Given the description of an element on the screen output the (x, y) to click on. 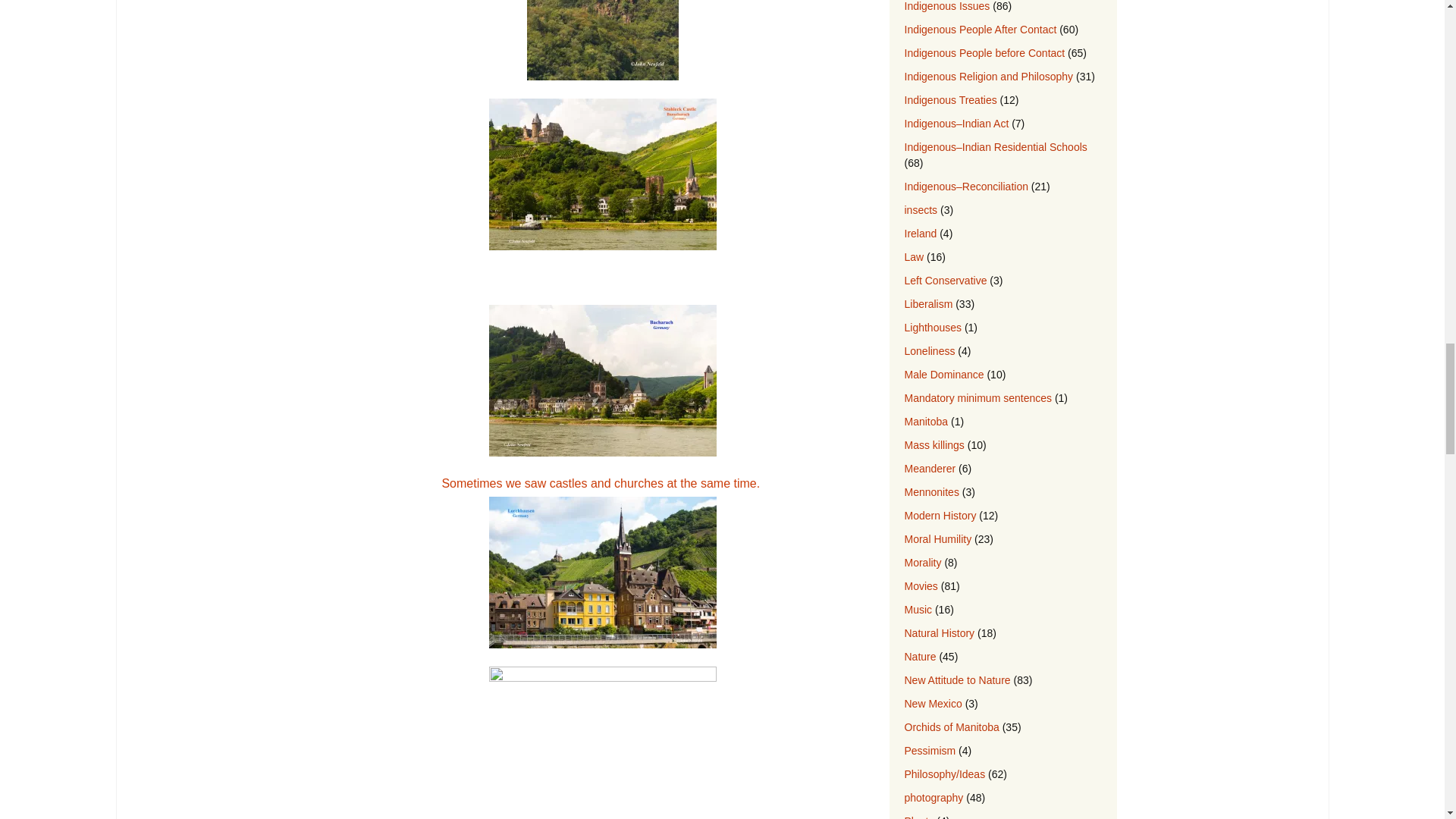
Sometimes we saw castles and churches at the same time.  (601, 562)
